Given the description of an element on the screen output the (x, y) to click on. 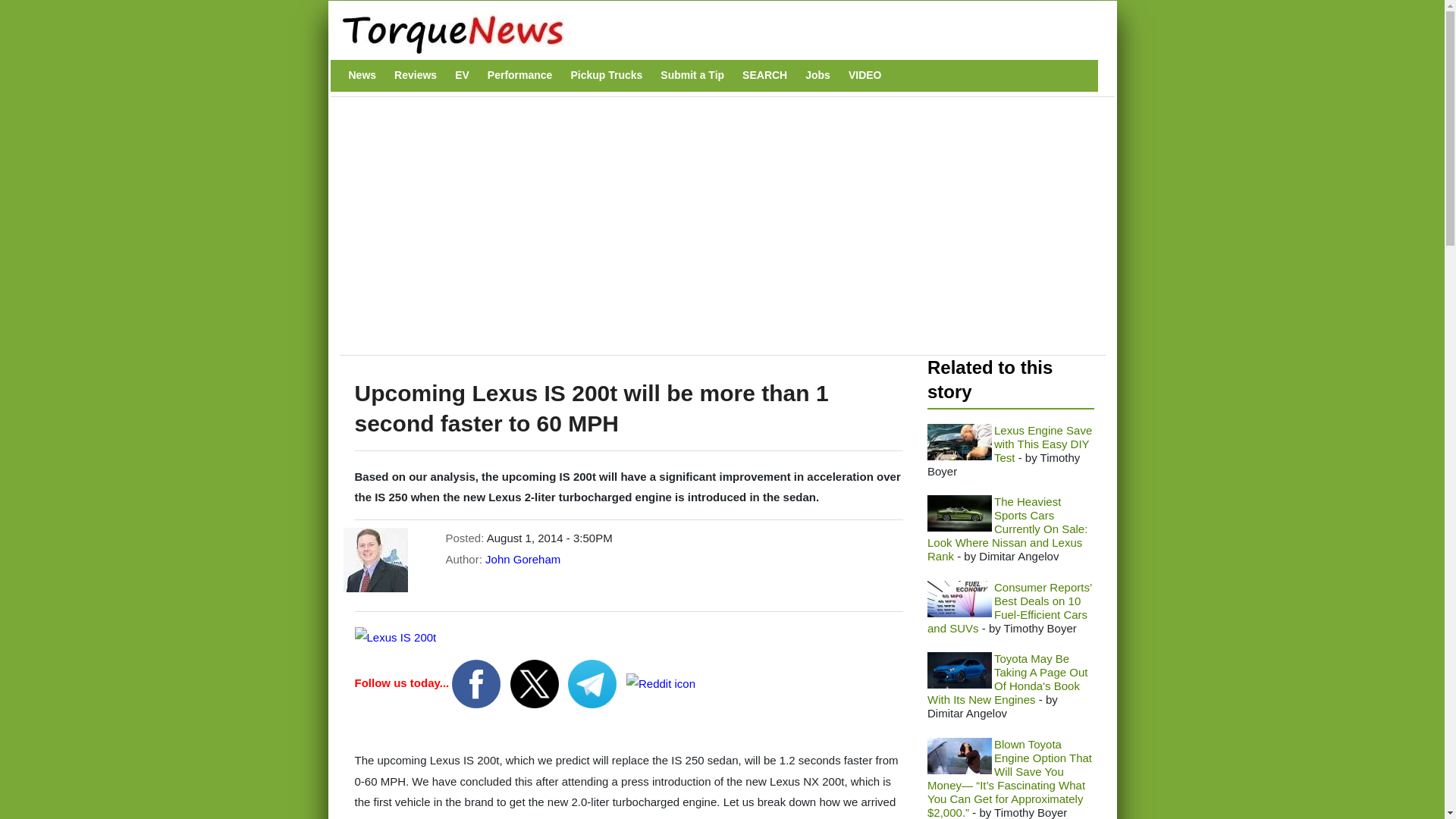
2024 Bentley Continental GTC Speed PHEV (959, 513)
Home (713, 32)
View user profile. (522, 558)
Reviews (415, 75)
Automotive journalism jobs and careers are TorqueNews.com. (817, 75)
Performance (520, 75)
Submit a Tip (691, 75)
Join us on Telegram! (593, 682)
Pickup Trucks (605, 75)
Jobs (817, 75)
VIDEO (865, 75)
Engine Noise Does Not Just Go Away Warning (959, 442)
Join us on Reddit! (660, 682)
Advertisement (624, 233)
